Given the description of an element on the screen output the (x, y) to click on. 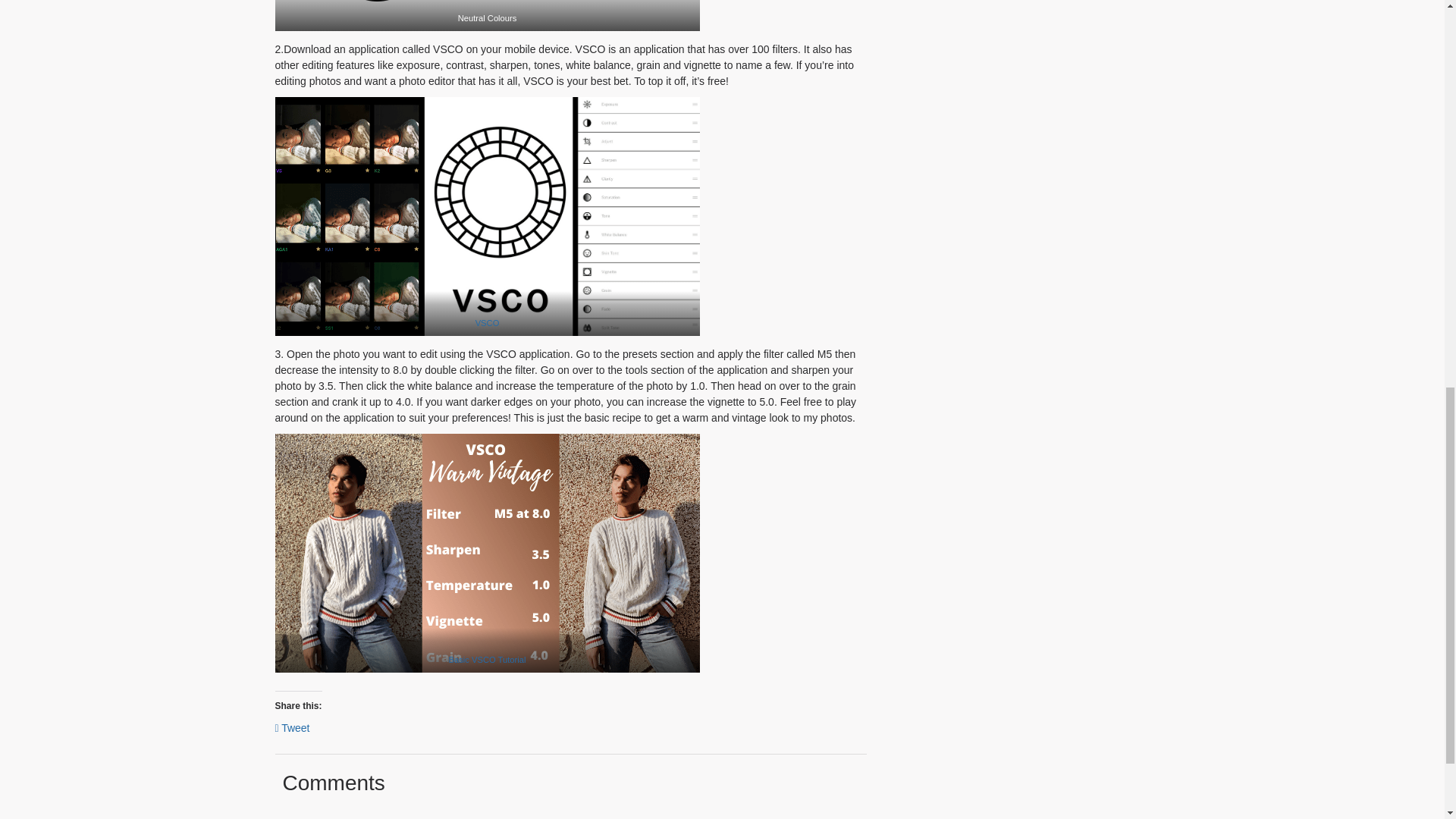
Tweet (291, 726)
Basic VSCO Tutorial (486, 659)
VSCO (487, 322)
